Given the description of an element on the screen output the (x, y) to click on. 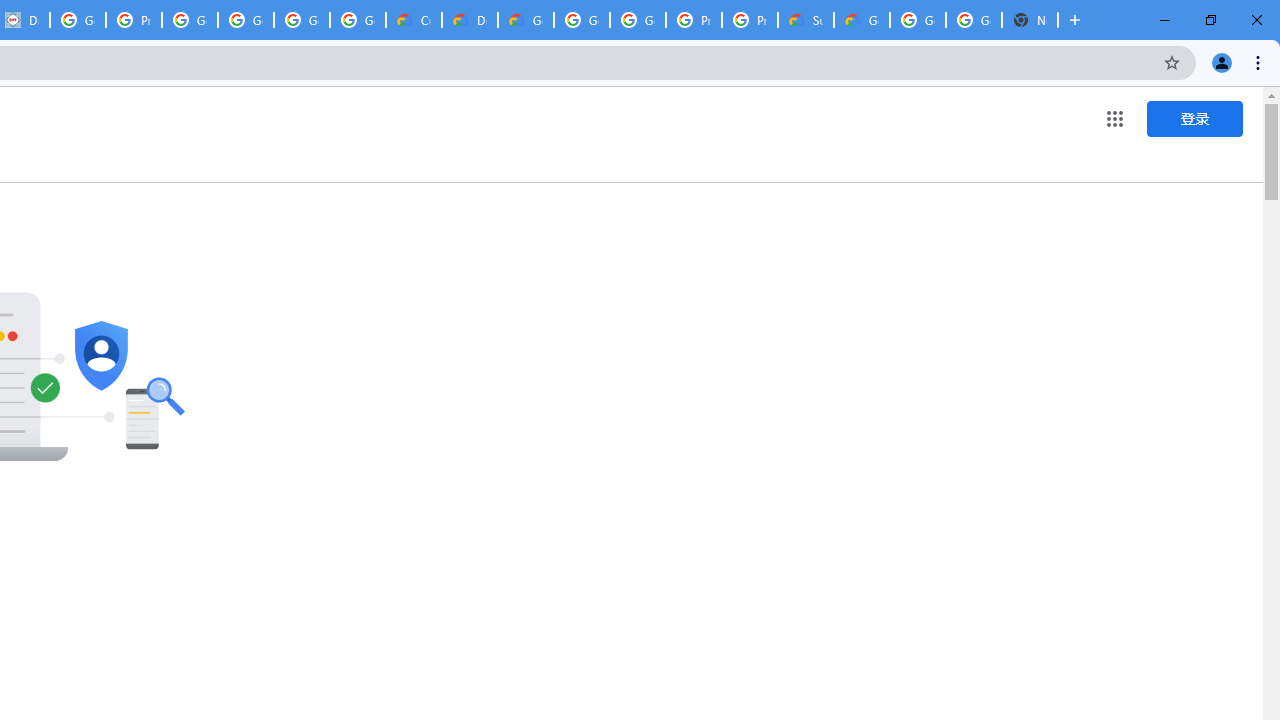
Google Cloud Platform (582, 20)
Customer Care | Google Cloud (413, 20)
